Given the description of an element on the screen output the (x, y) to click on. 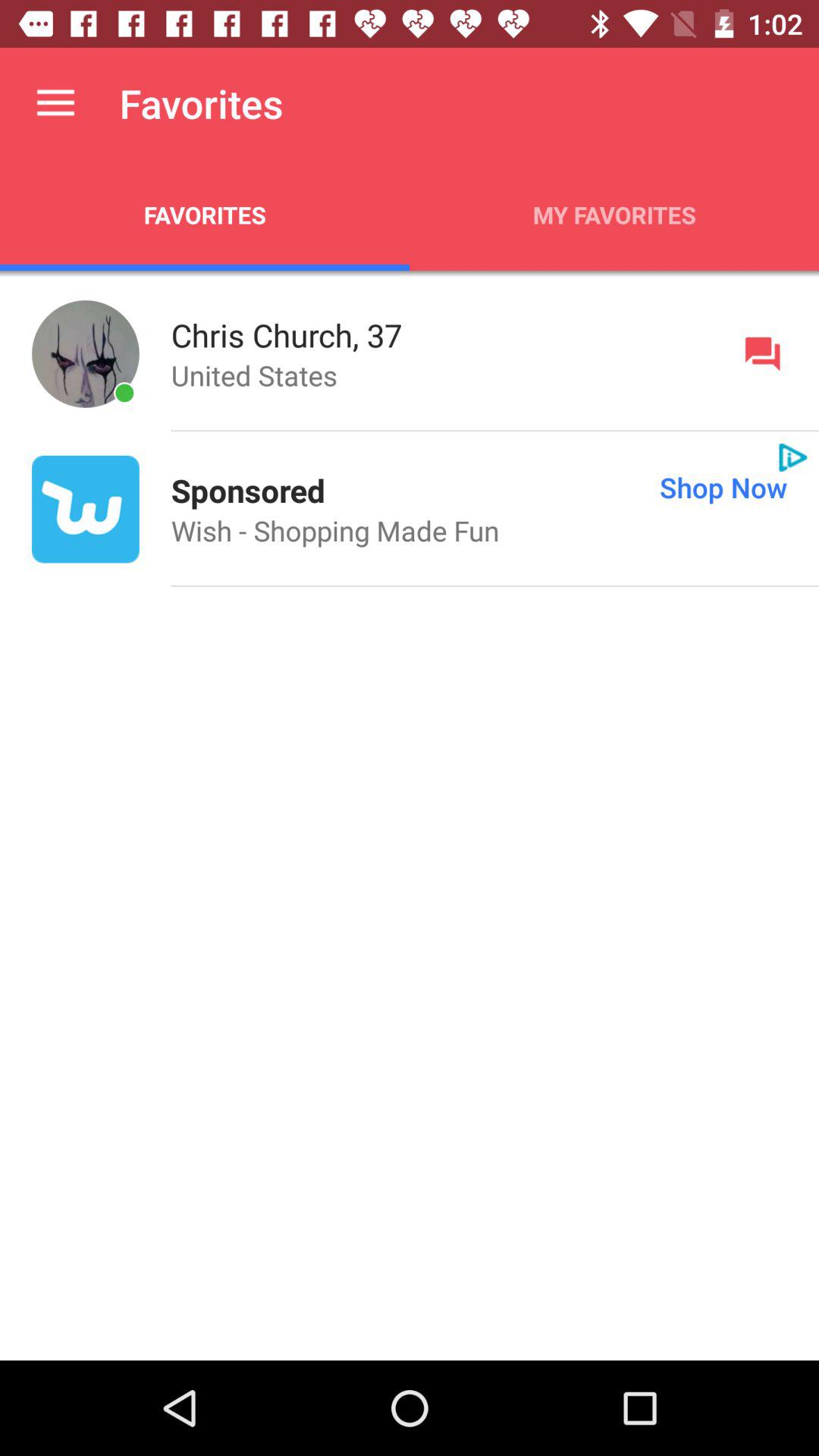
select the icon below united states (248, 489)
